Given the description of an element on the screen output the (x, y) to click on. 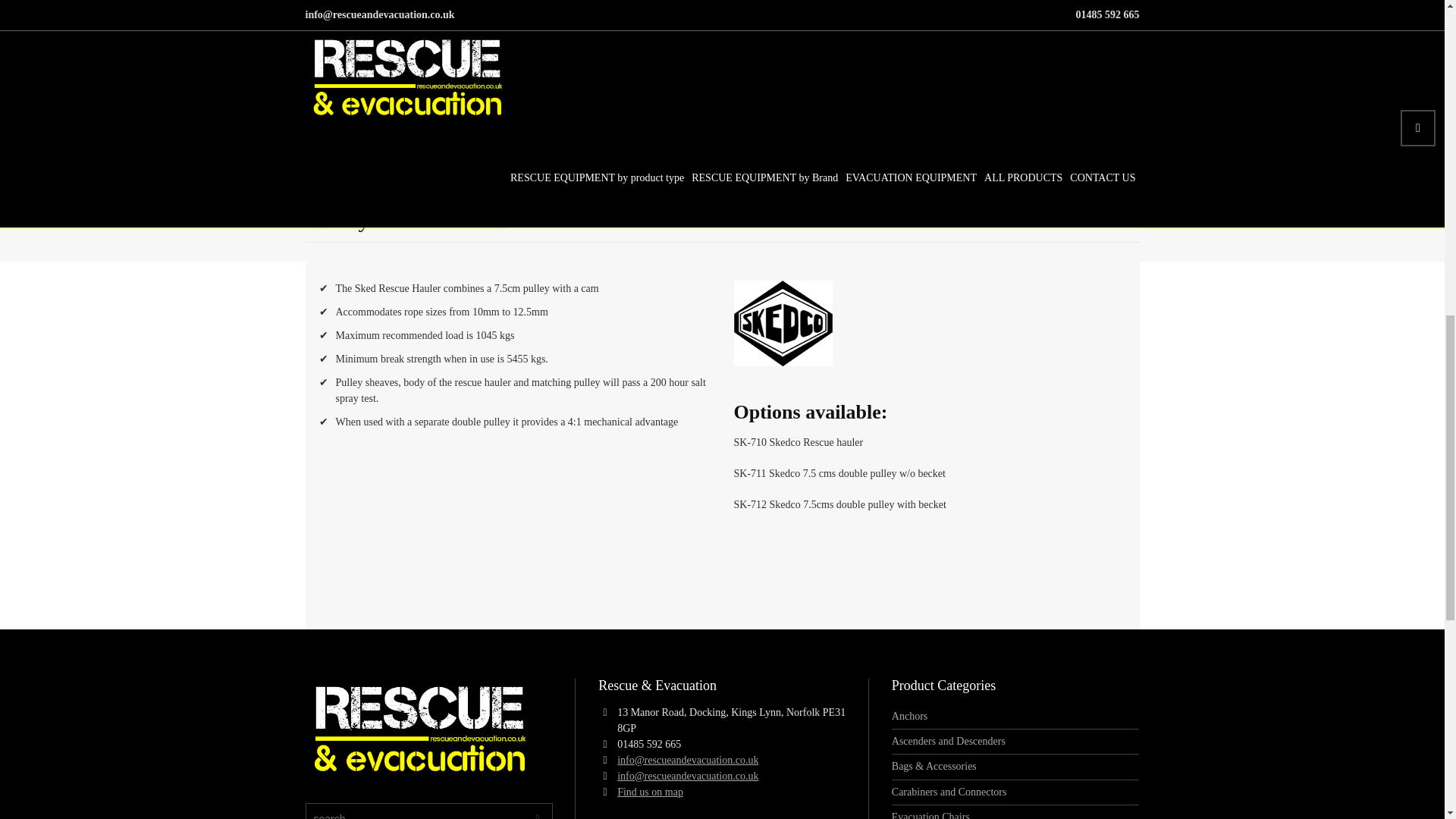
Find us on map (649, 791)
